Given the description of an element on the screen output the (x, y) to click on. 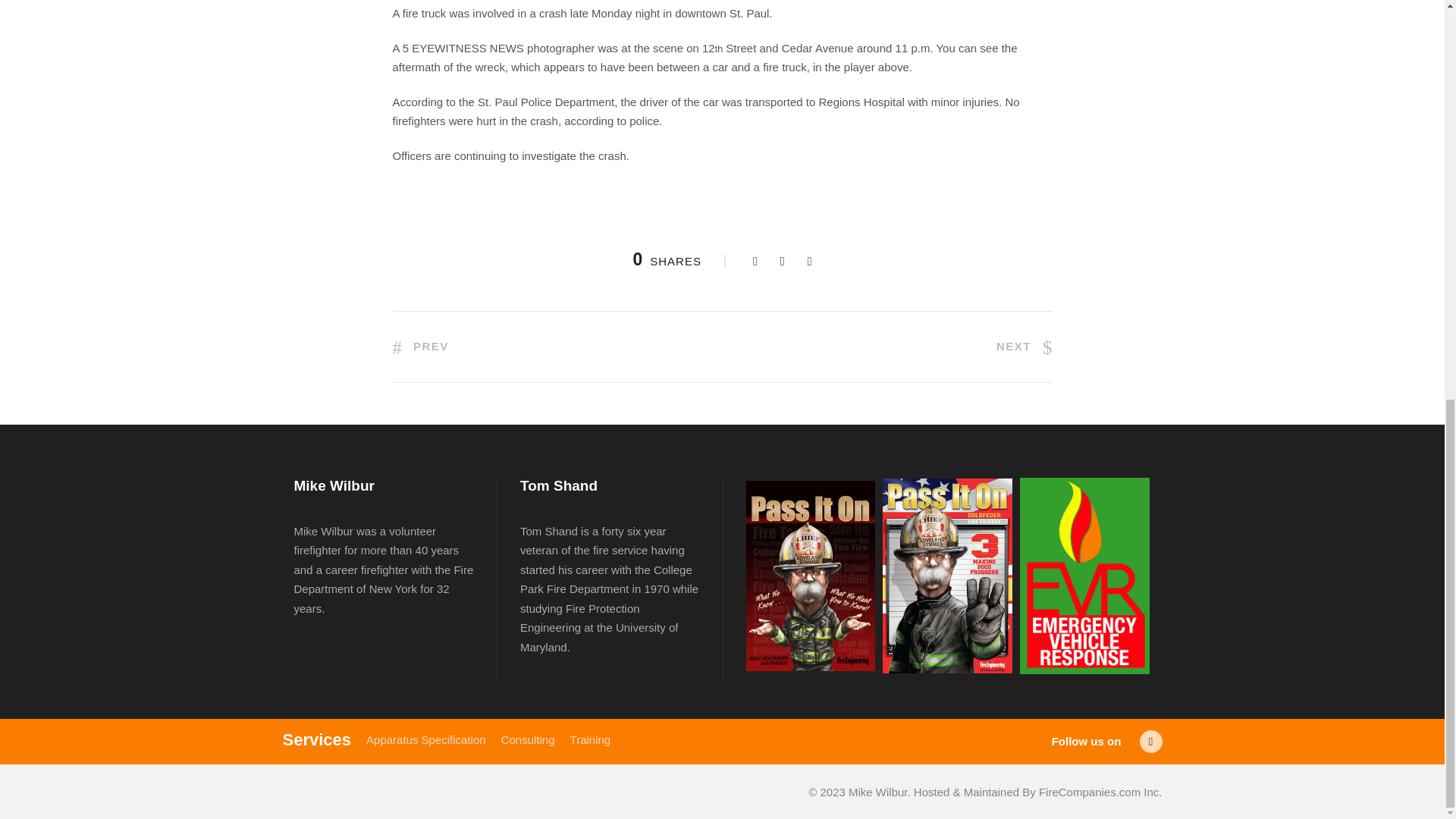
Training (590, 739)
Apparatus Specification (426, 739)
Consulting (527, 739)
NEXT (1023, 345)
PREV (420, 345)
Facebook (1149, 741)
